Given the description of an element on the screen output the (x, y) to click on. 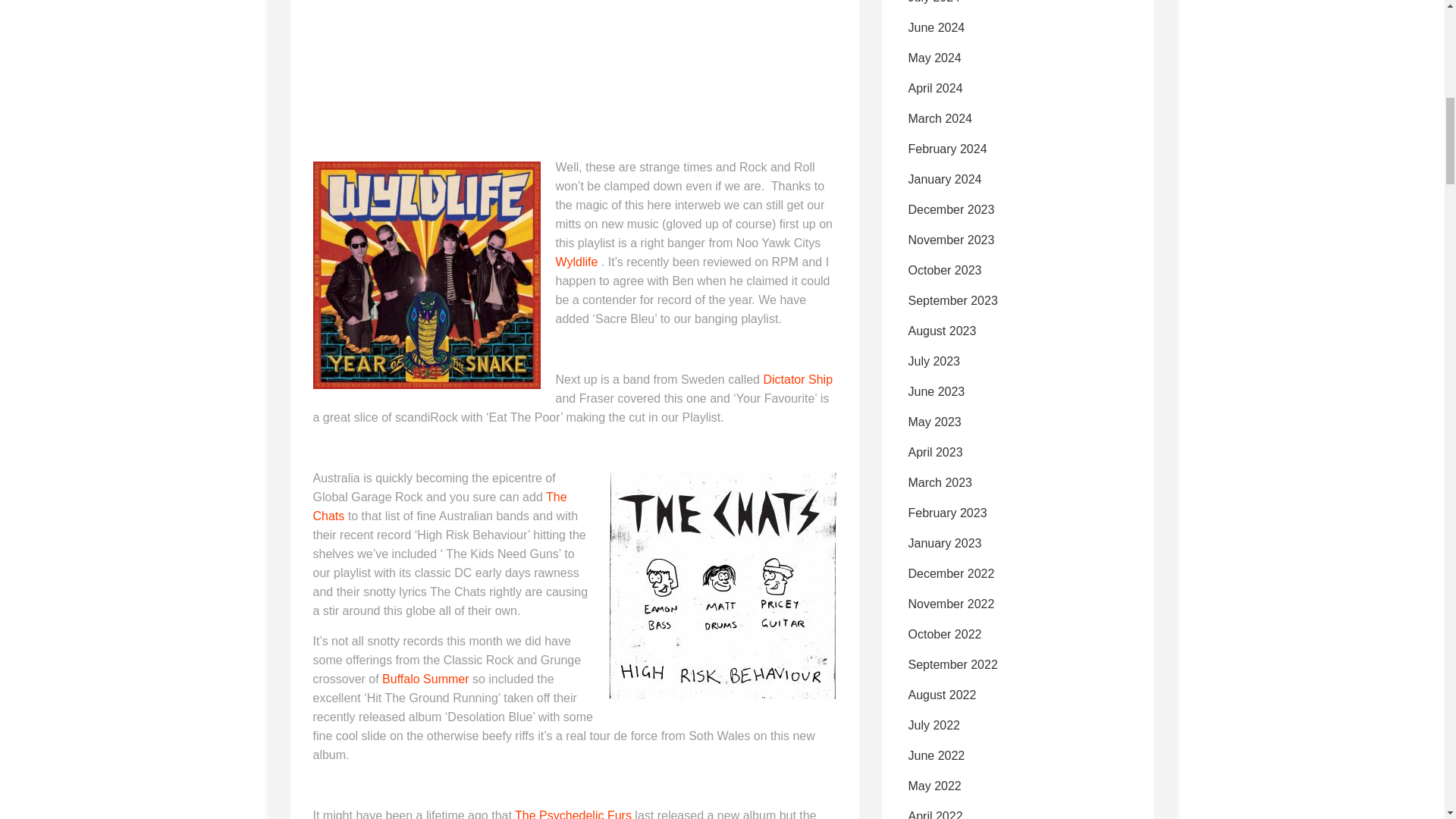
Spotify Embed: RPM Online April Playlist (426, 55)
